Given the description of an element on the screen output the (x, y) to click on. 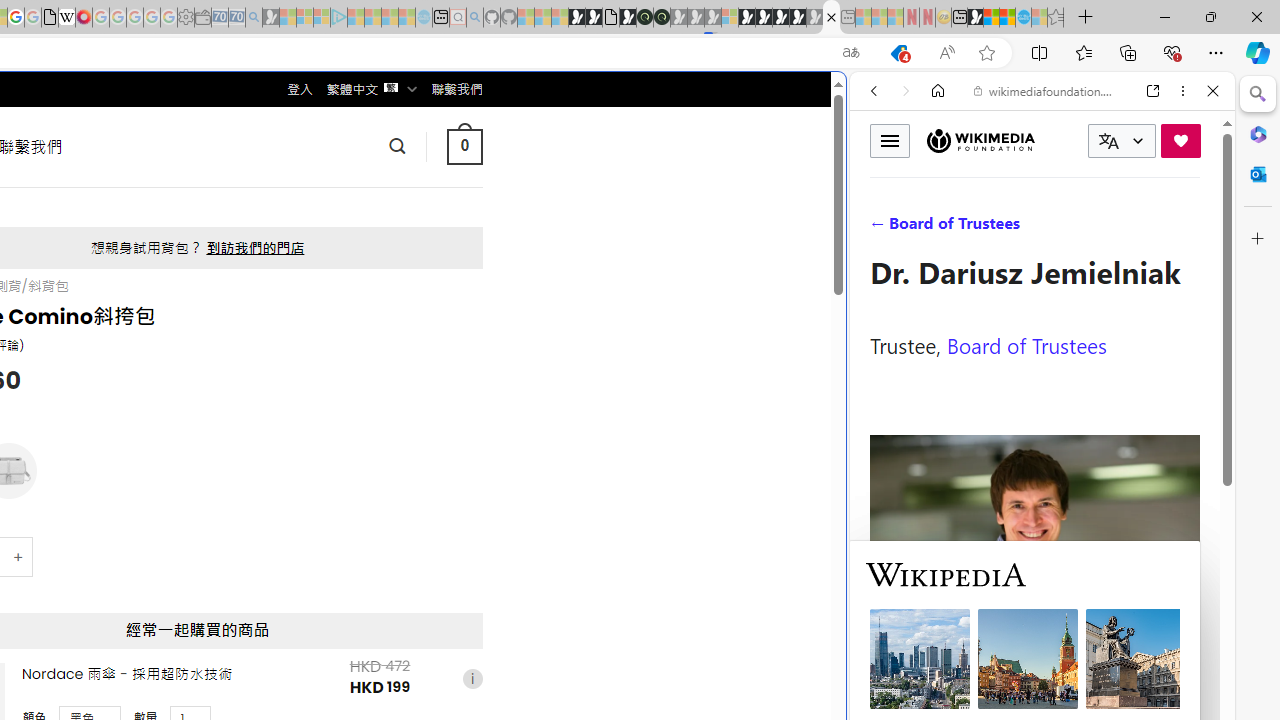
CURRENT LANGUAGE: (1121, 141)
i (472, 678)
Settings - Sleeping (185, 17)
Future Focus Report 2024 (661, 17)
